Given the description of an element on the screen output the (x, y) to click on. 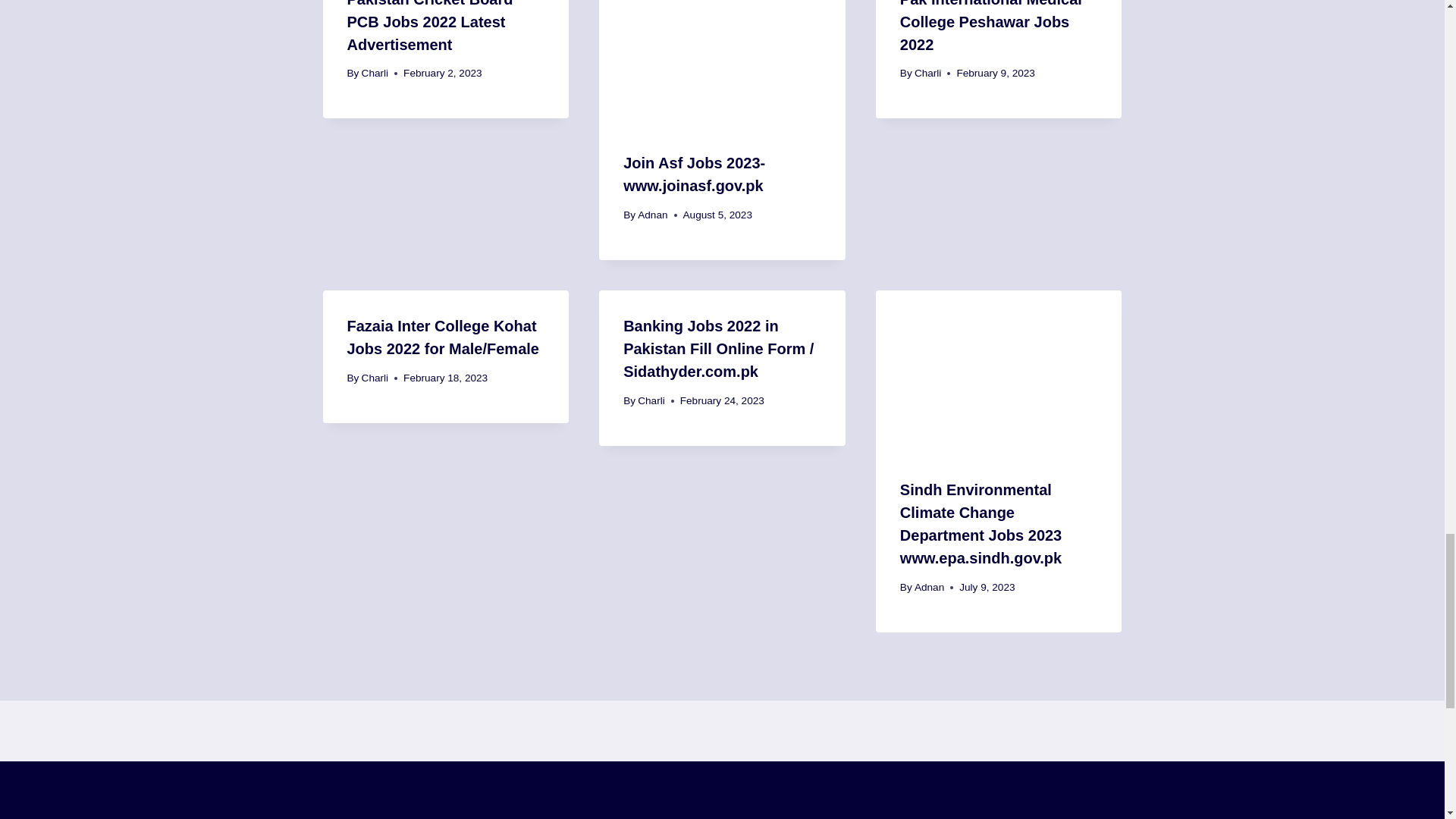
Adnan (928, 586)
Pakistan Cricket Board PCB Jobs 2022 Latest Advertisement (430, 26)
Pak International Medical College Peshawar Jobs 2022 (990, 26)
Adnan (651, 214)
Charli (374, 72)
Charli (651, 400)
Join Asf Jobs 2023-www.joinasf.gov.pk (694, 174)
Charli (374, 378)
Charli (928, 72)
